Given the description of an element on the screen output the (x, y) to click on. 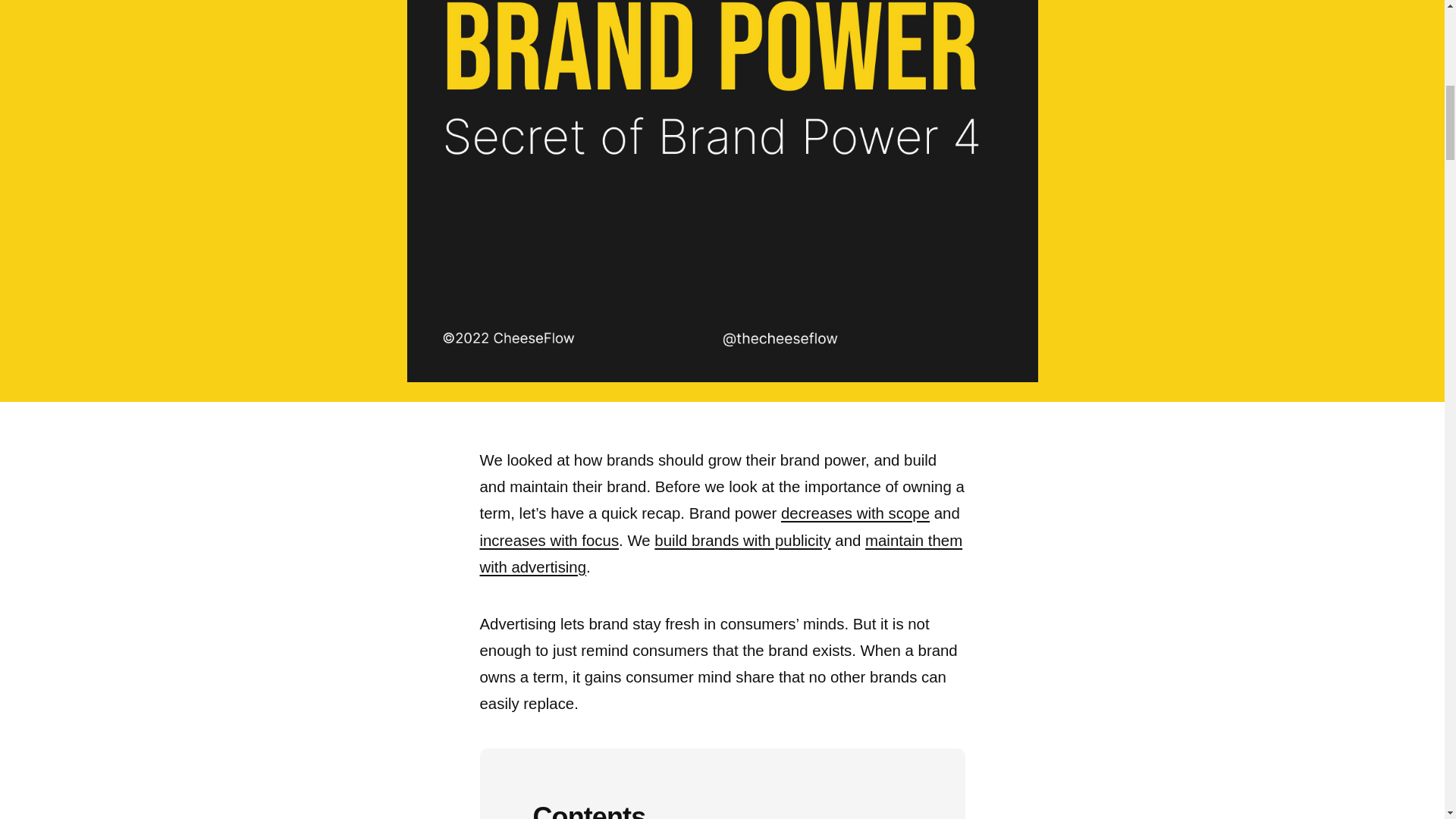
build brands with publicity (741, 540)
maintain them with advertising (720, 553)
decreases with scope (855, 513)
increases with focus (548, 540)
